Given the description of an element on the screen output the (x, y) to click on. 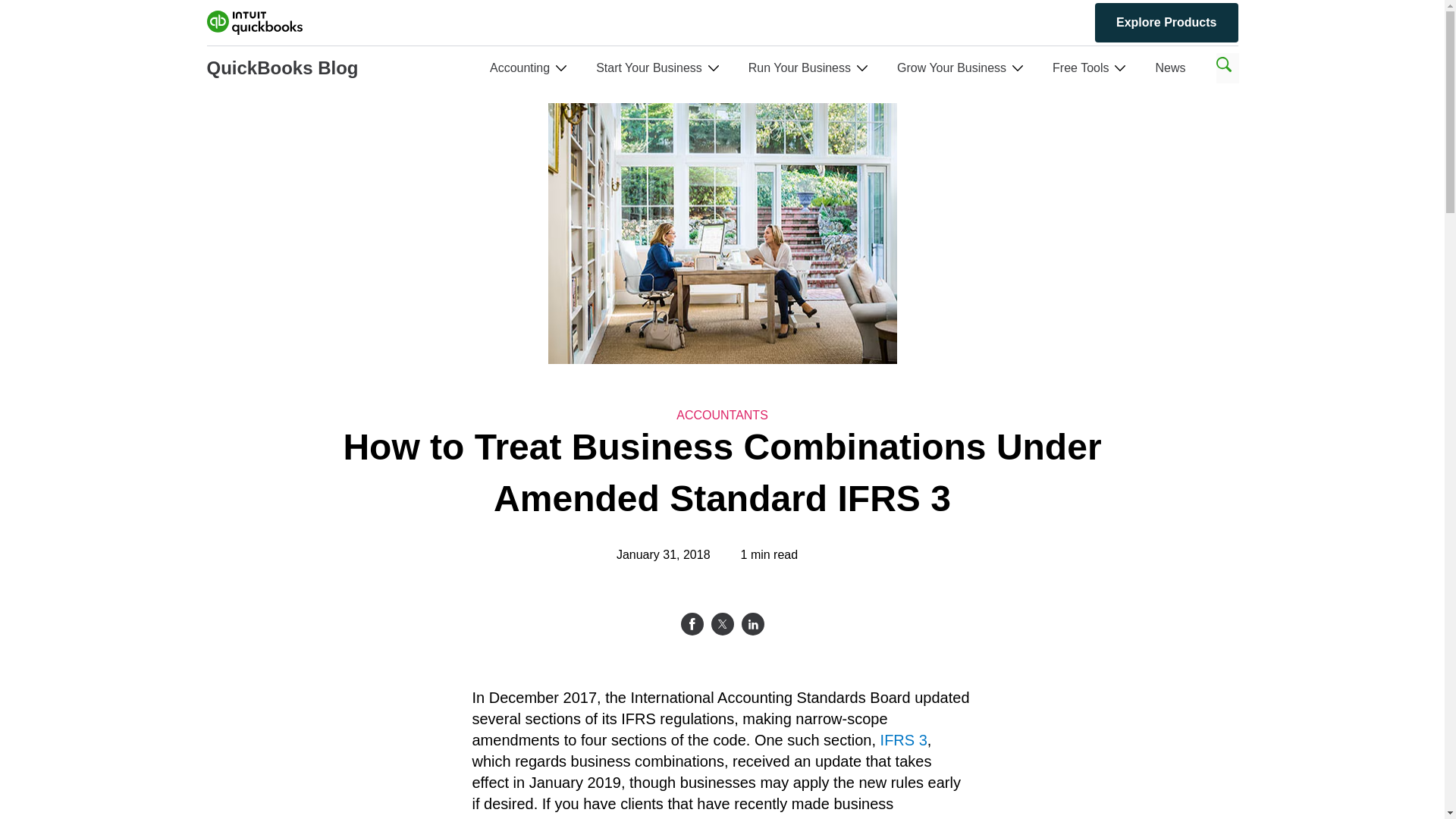
Explore Products (1165, 22)
Run Your Business (799, 67)
Accounting (519, 67)
Share on Facebook (692, 623)
QuickBooks Blog (282, 67)
Start Your Business (648, 67)
Share on LinkedIn (752, 623)
Share on Twitter (722, 623)
